Given the description of an element on the screen output the (x, y) to click on. 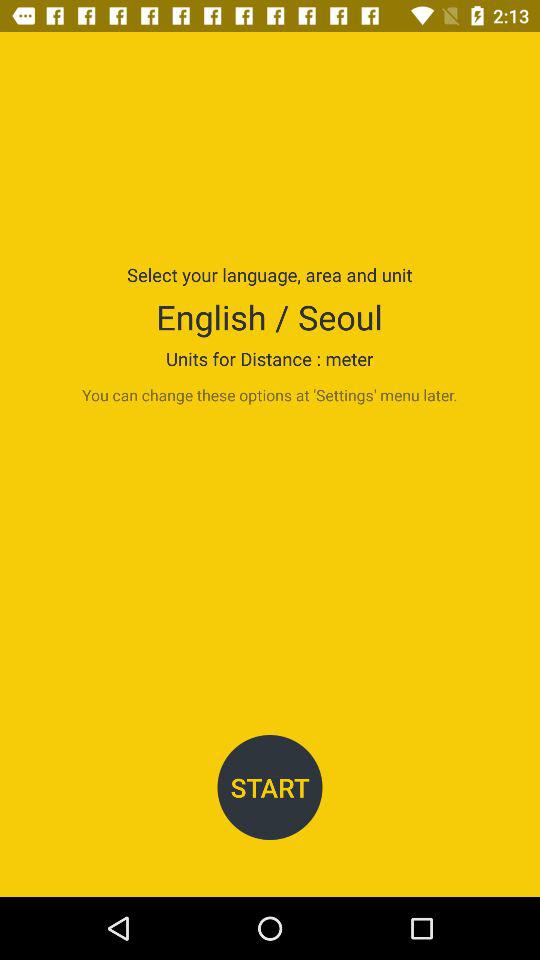
click start item (269, 787)
